Given the description of an element on the screen output the (x, y) to click on. 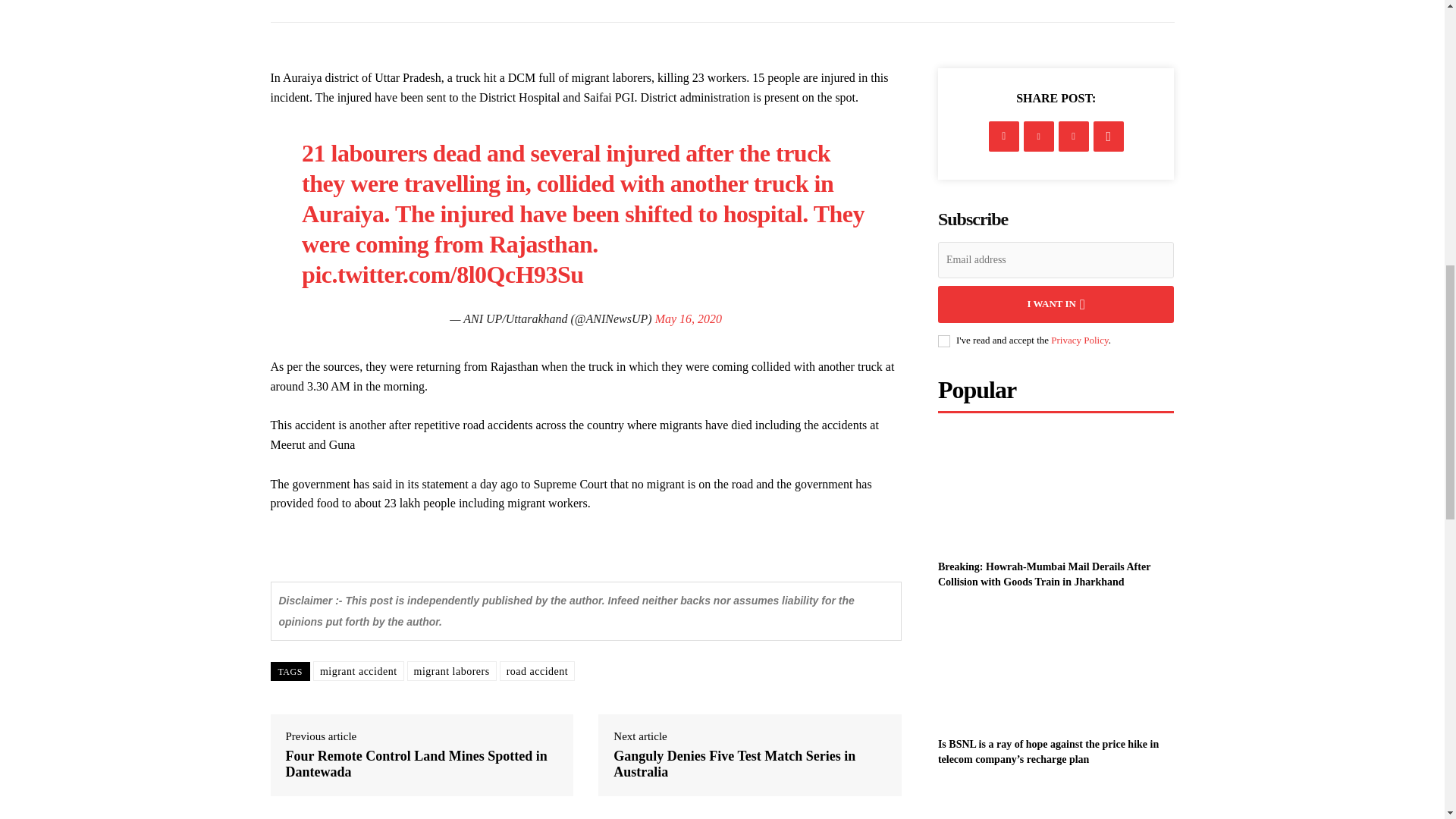
Facebook (1003, 136)
Pinterest (1073, 136)
WhatsApp (1108, 136)
Twitter (1038, 136)
How Congress Recovered from the Poor Results of 2014 (1055, 803)
